Given the description of an element on the screen output the (x, y) to click on. 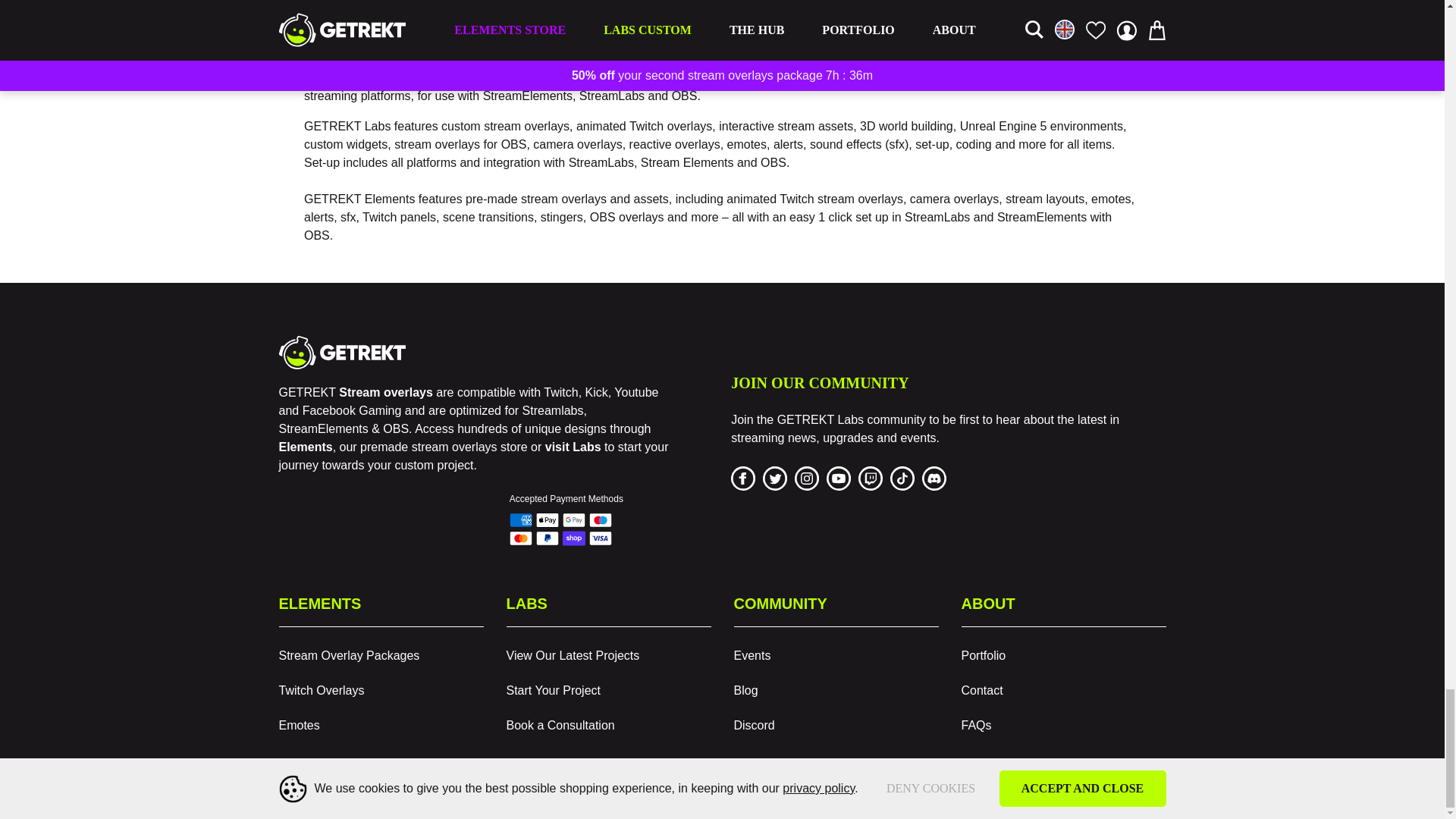
Start Your Project (608, 690)
Emotes (381, 725)
Stream overlays (385, 391)
Stream Overlay Packages (381, 655)
Stream Overlays (306, 446)
Twitch Overlays (381, 690)
visit Labs (572, 446)
View Our Latest Projects (608, 655)
Stream Overlays (381, 655)
Twitch Overlays (381, 690)
Book a Consultation (608, 725)
Stream Overlays (385, 391)
Emotes (381, 725)
Elements (306, 446)
